Given the description of an element on the screen output the (x, y) to click on. 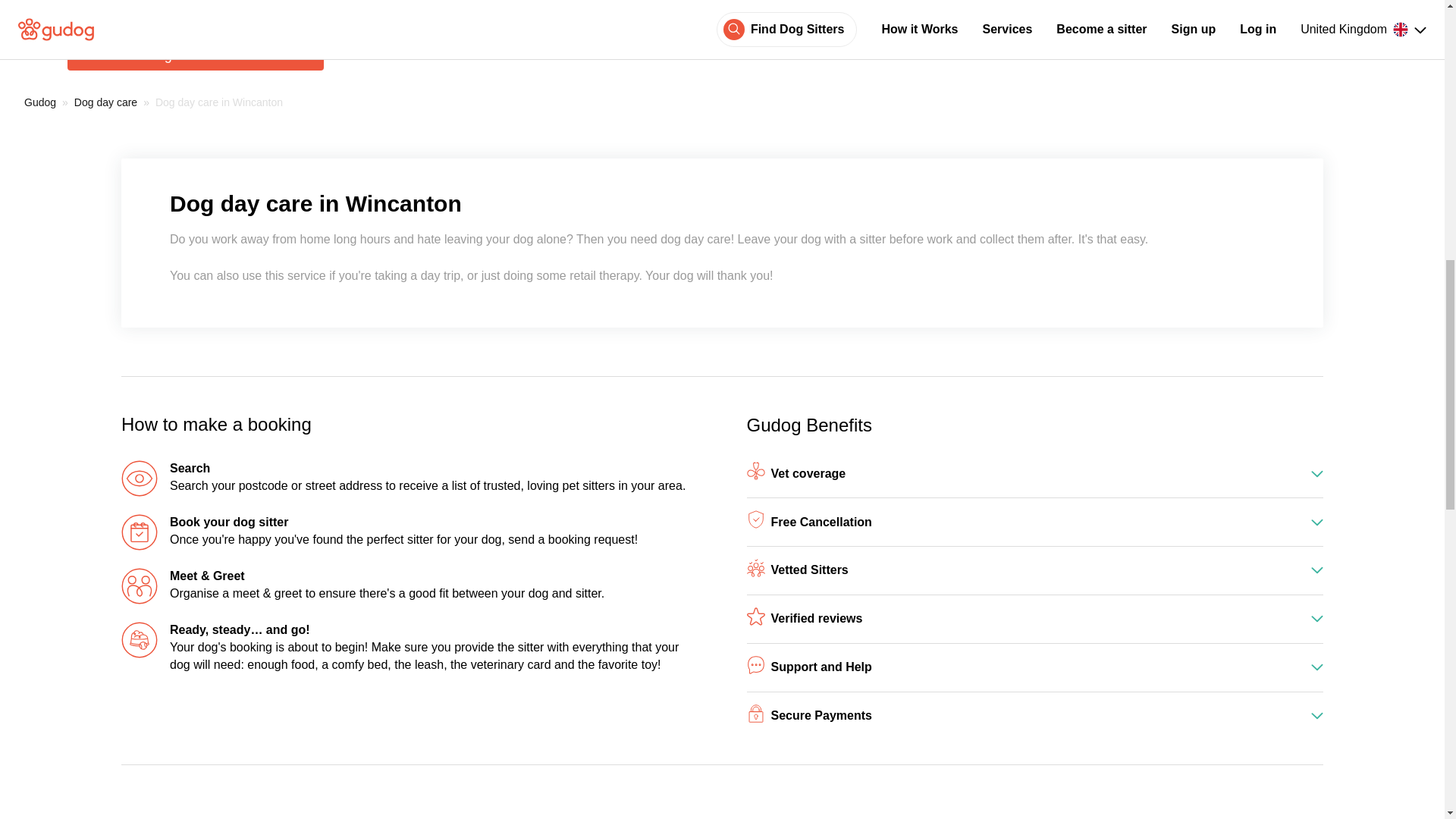
Gudog (40, 102)
Dog day care (105, 102)
View all 11 dog sitters near Wincanton (194, 55)
